Given the description of an element on the screen output the (x, y) to click on. 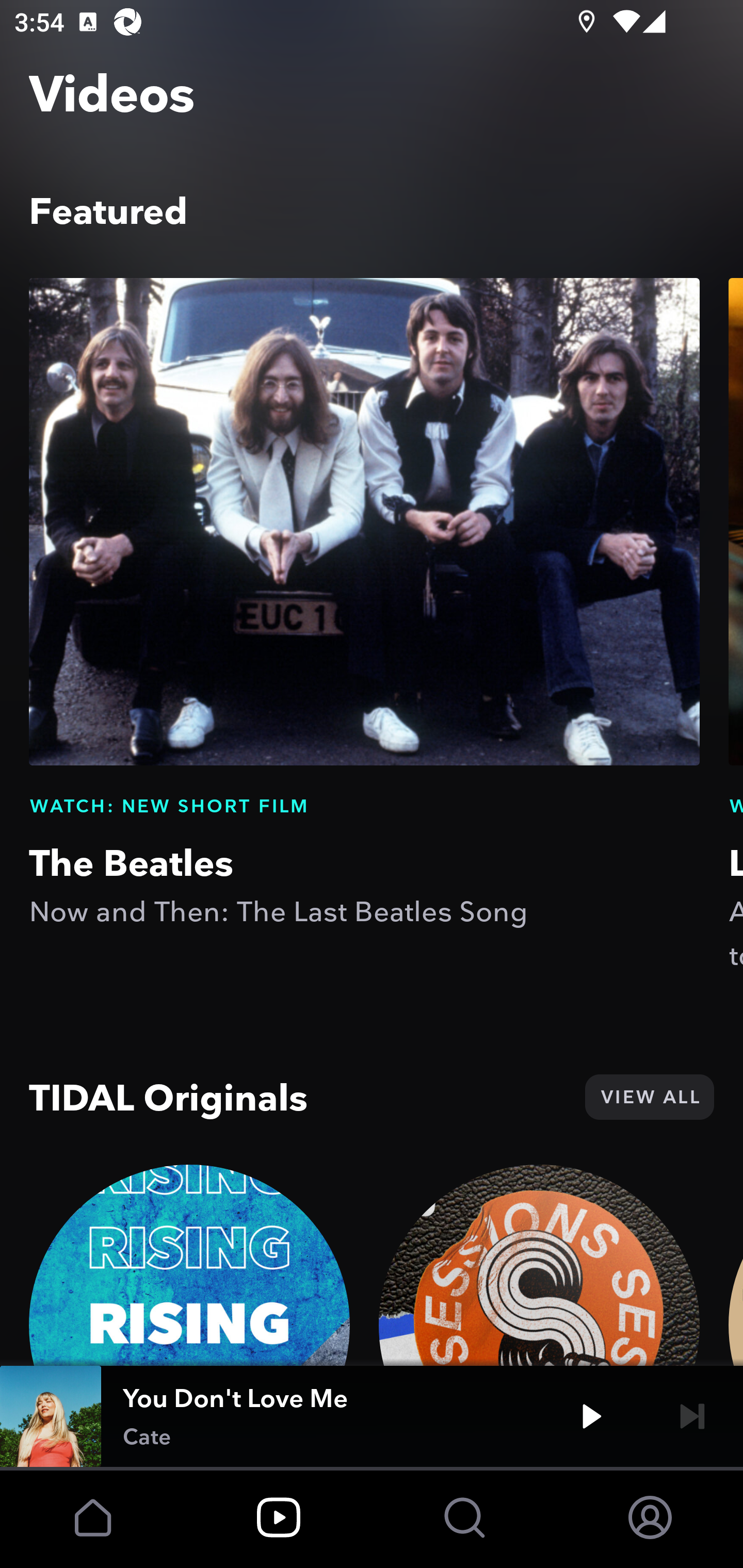
VIEW ALL (649, 1096)
You Don't Love Me Cate Play (371, 1416)
Play (590, 1416)
